Given the description of an element on the screen output the (x, y) to click on. 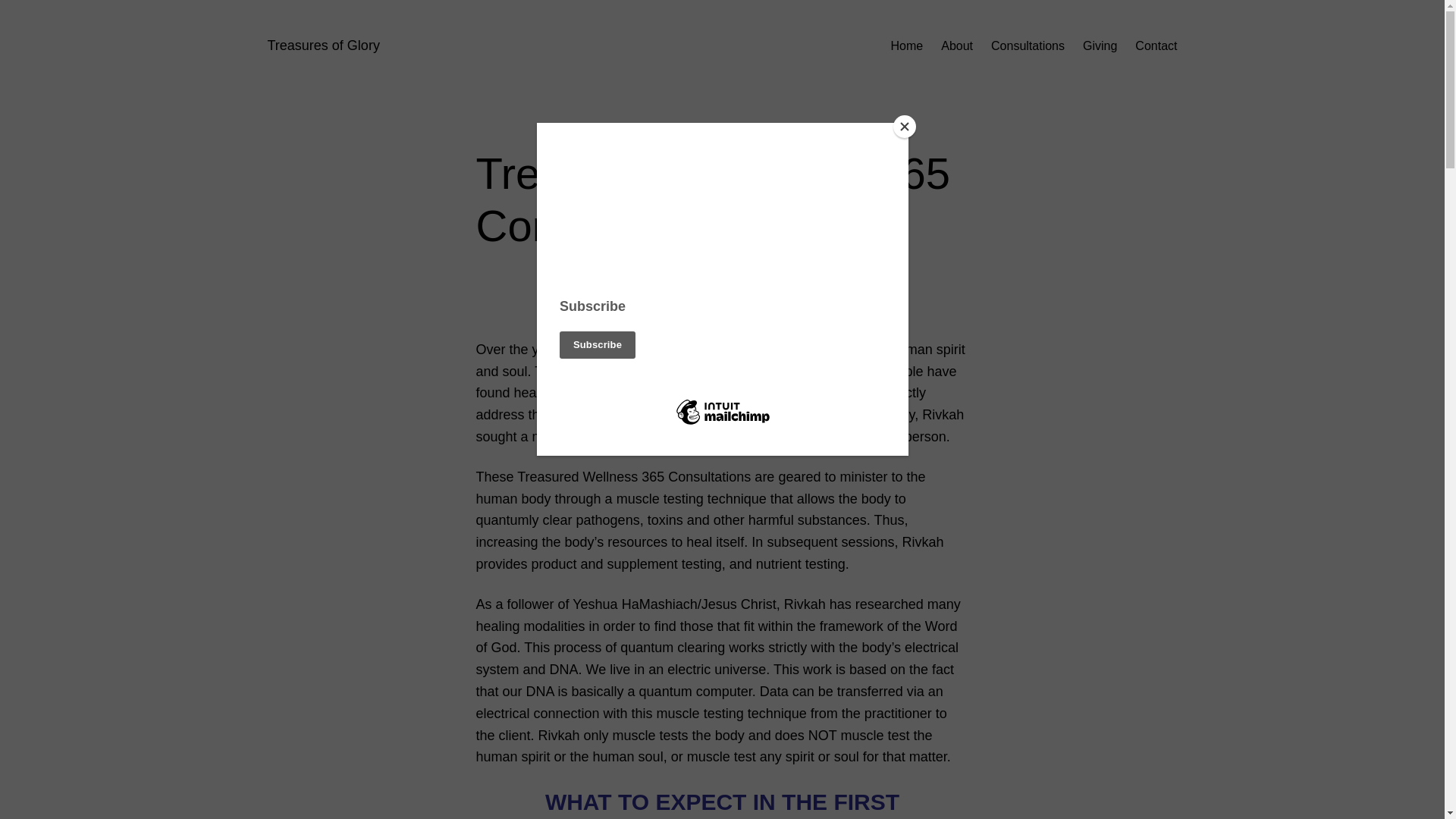
Consultations (1027, 46)
Treasures of Glory (322, 45)
Contact (1155, 46)
About (956, 46)
Giving (1099, 46)
Home (907, 46)
